Given the description of an element on the screen output the (x, y) to click on. 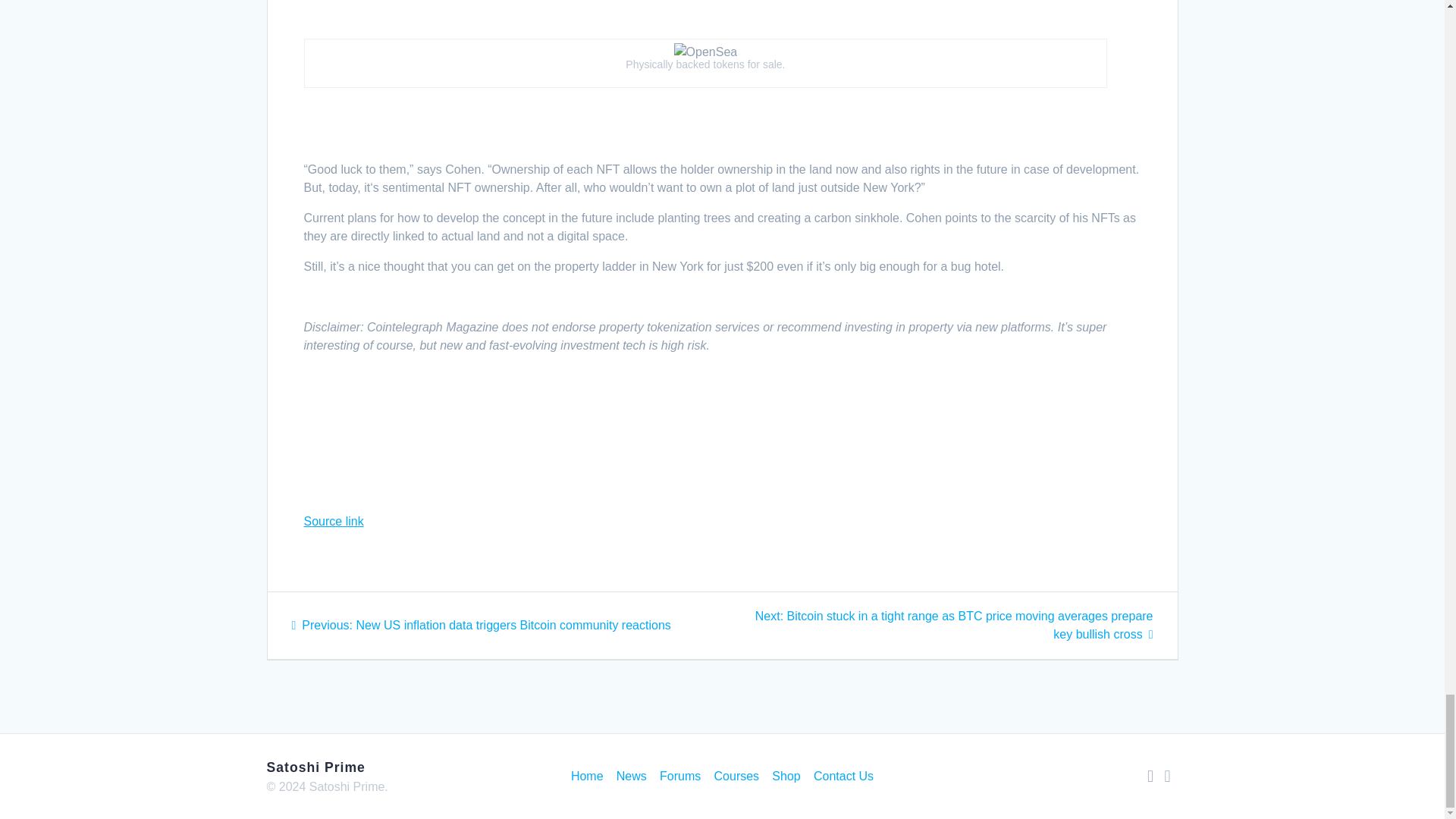
Home (587, 776)
Forums (679, 776)
News (630, 776)
Courses (737, 776)
Contact Us (843, 776)
Source link (332, 521)
Shop (785, 776)
